Given the description of an element on the screen output the (x, y) to click on. 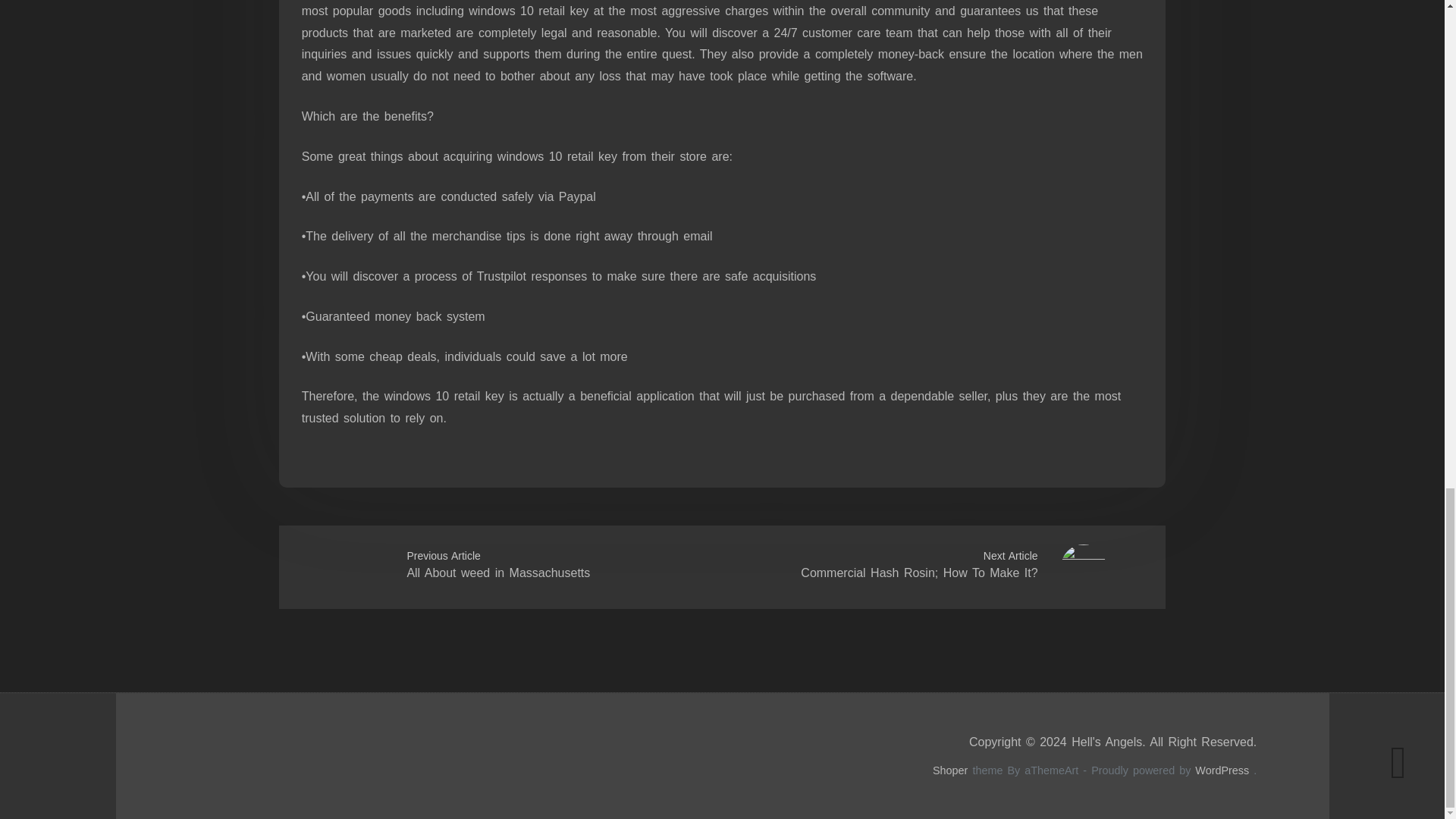
All About weed in Massachusetts (497, 572)
WordPress (1222, 770)
Shoper (950, 770)
Commercial Hash Rosin; How To Make It? (918, 572)
